Given the description of an element on the screen output the (x, y) to click on. 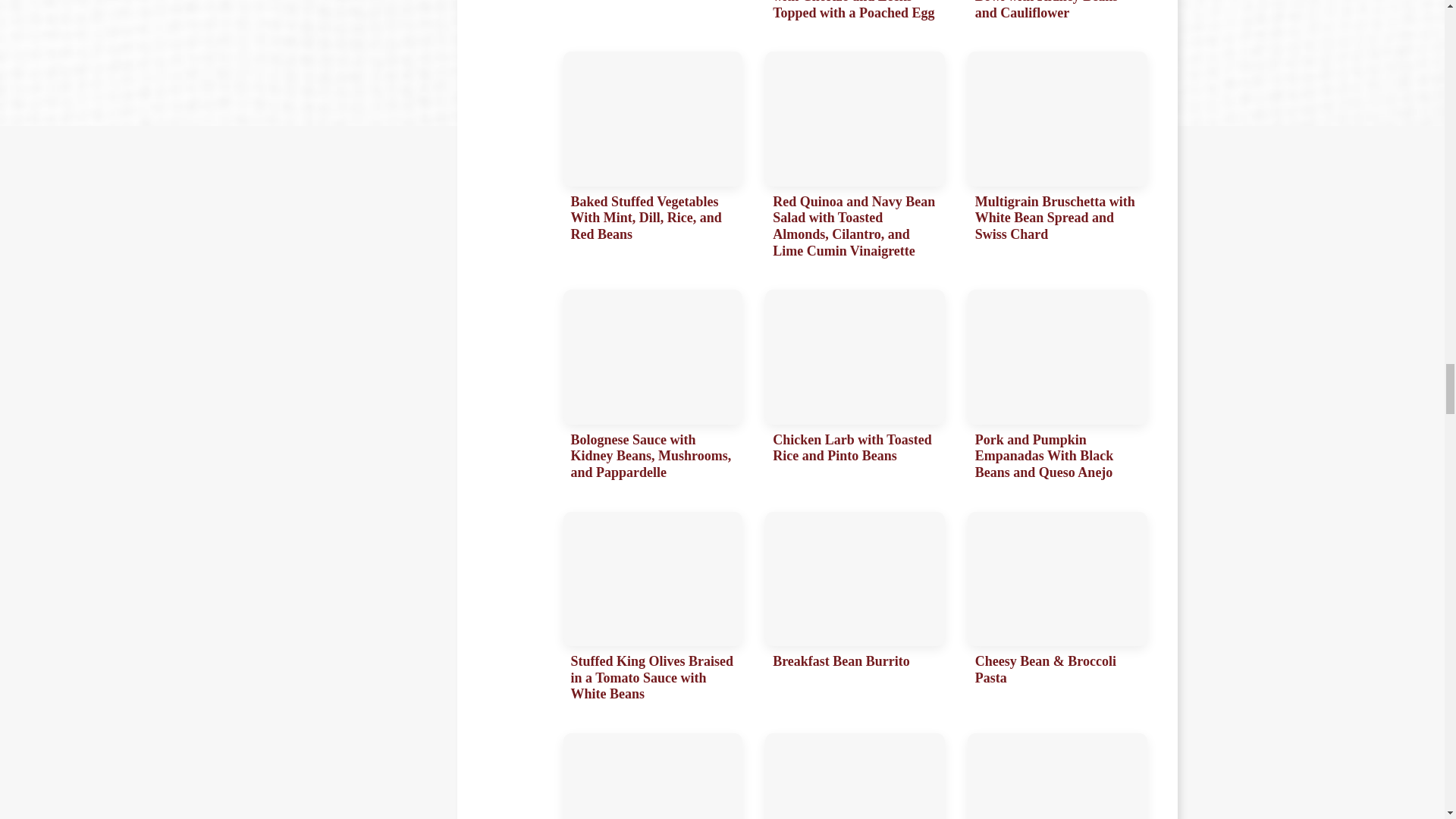
Blueberry Bean Smoothie (652, 776)
Southwest Fajita Wrap (652, 14)
Breakfast Bean Burrito (854, 610)
Pinto Bean Hummus (854, 776)
Chicken Larb with Toasted Rice and Pinto Beans (854, 388)
Pork and Pumpkin Empanadas With Black Beans and Queso Anejo (1057, 388)
